Given the description of an element on the screen output the (x, y) to click on. 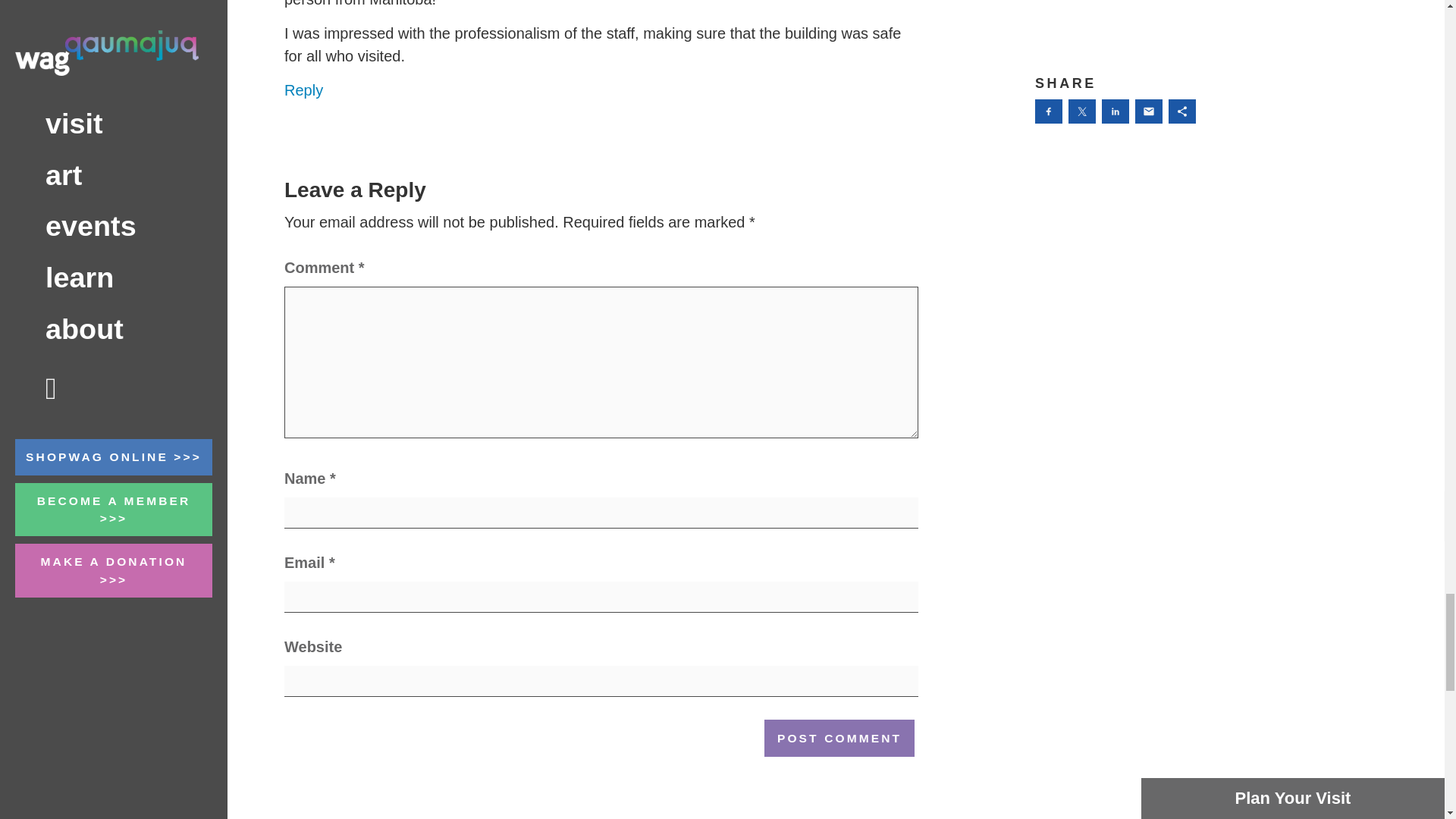
Post Comment (839, 737)
